Given the description of an element on the screen output the (x, y) to click on. 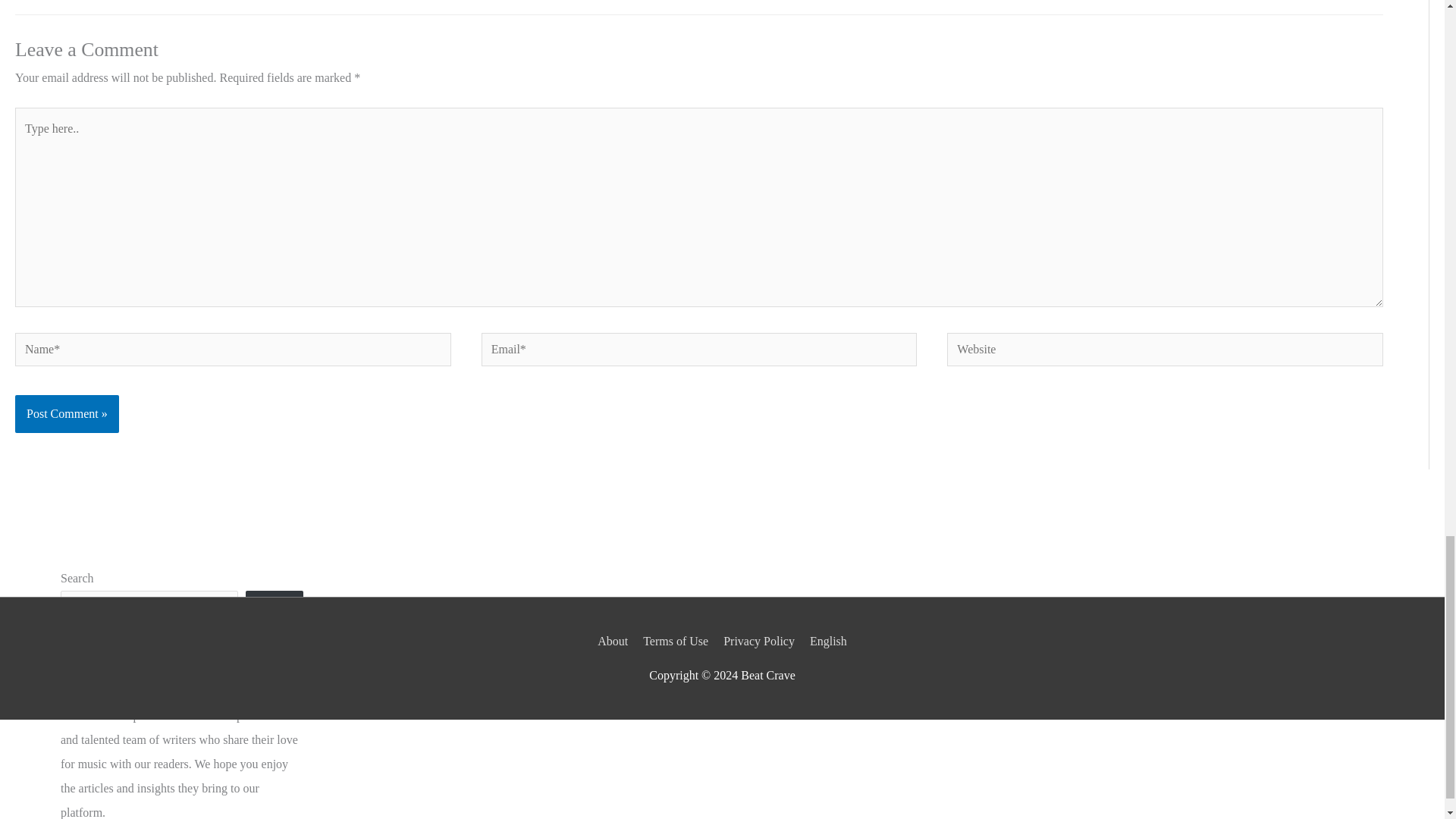
Search (274, 610)
Terms of Use (675, 640)
Privacy Policy (758, 640)
English (825, 640)
About (614, 640)
